Given the description of an element on the screen output the (x, y) to click on. 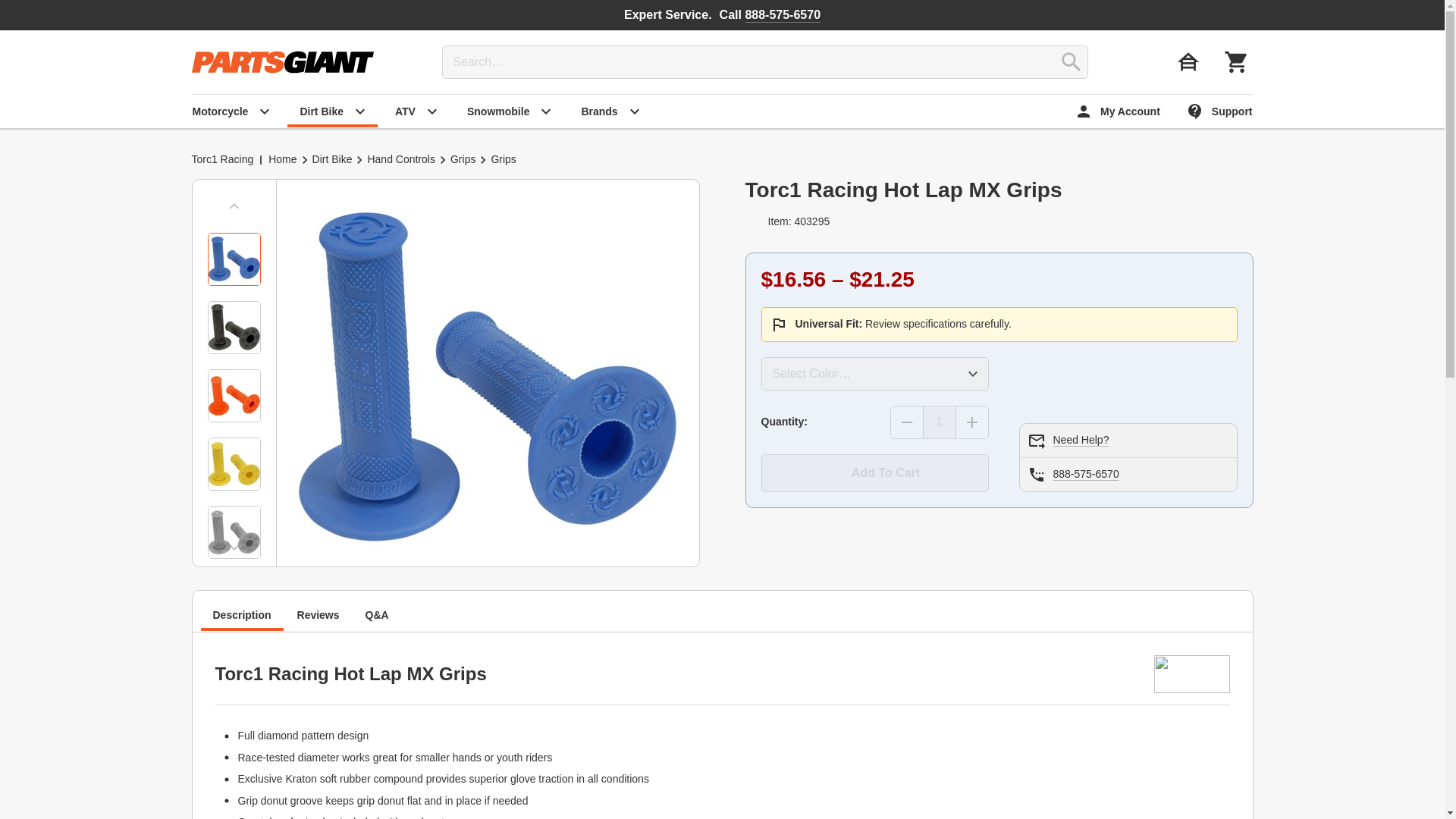
Grips (462, 159)
Snowmobile (509, 111)
Support (1220, 111)
Add To Cart (874, 473)
Reviews (317, 614)
Torc1 Racing (221, 159)
Need Help? (1080, 439)
My Account (1119, 111)
Dirt Bike (332, 111)
Next image (234, 547)
